Given the description of an element on the screen output the (x, y) to click on. 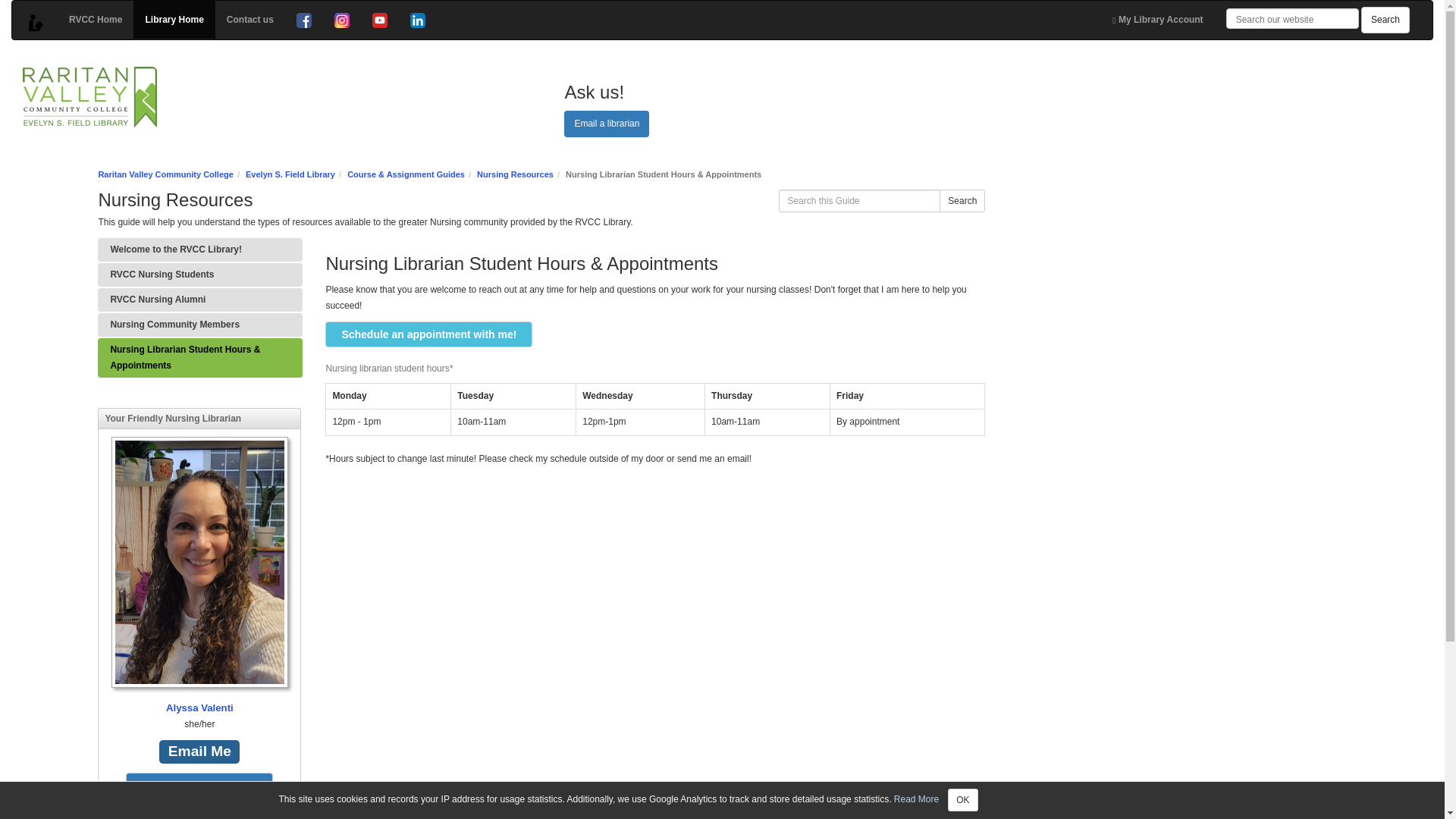
Schedule Appointment (199, 785)
Search (1385, 19)
RVCC Nursing Students (199, 274)
Email a librarian (606, 123)
Schedule an appointment with me! (428, 334)
My Library Account (1157, 19)
Contact us (250, 19)
Read More (916, 798)
OK (961, 799)
Welcome to the RVCC Library! (199, 249)
Evelyn S. Field Library (290, 174)
RVCC Home (95, 19)
Raritan Valley Community College (164, 174)
Email Me (199, 751)
Search (962, 200)
